Given the description of an element on the screen output the (x, y) to click on. 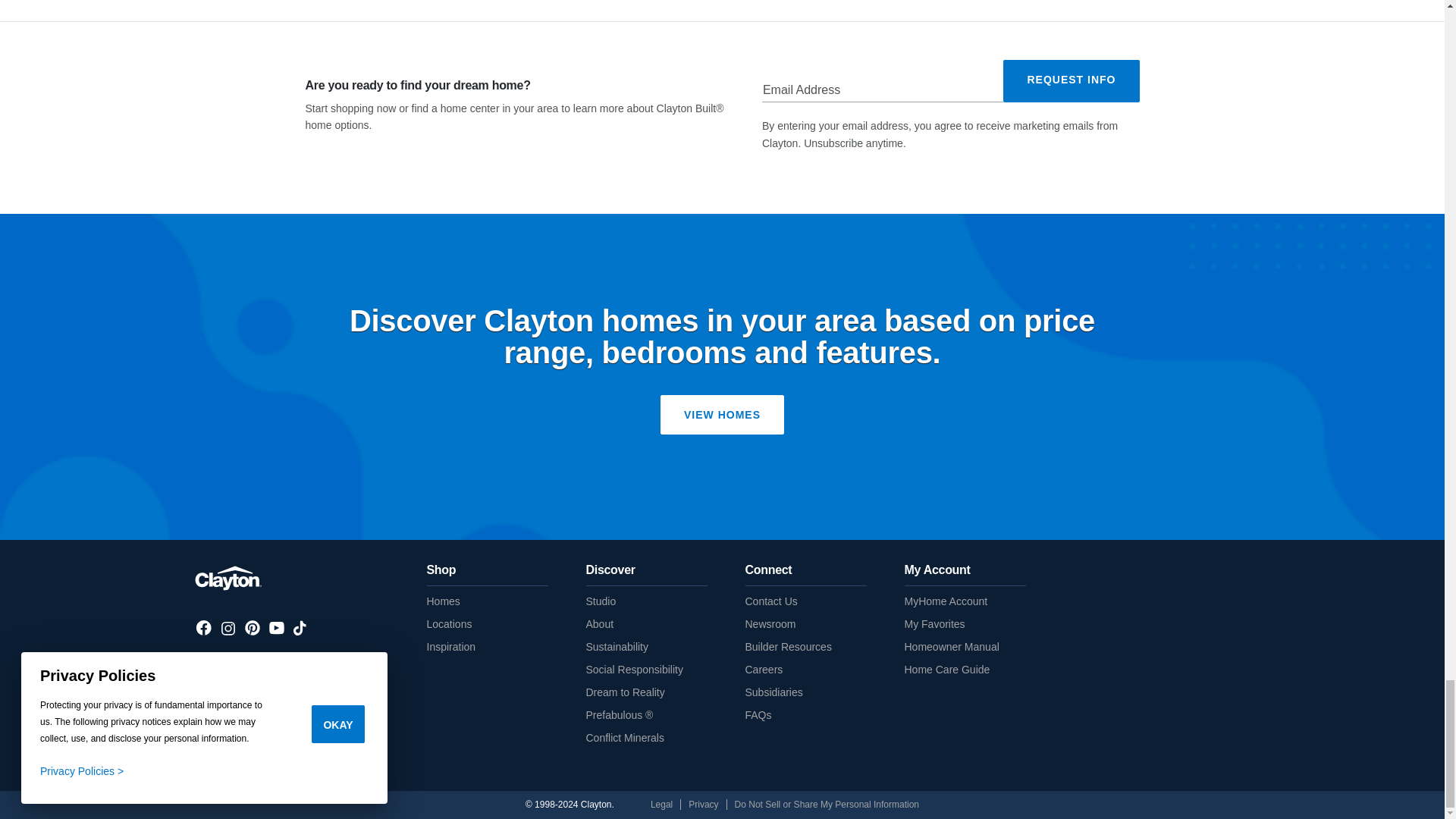
Clayton Homes (228, 577)
